Given the description of an element on the screen output the (x, y) to click on. 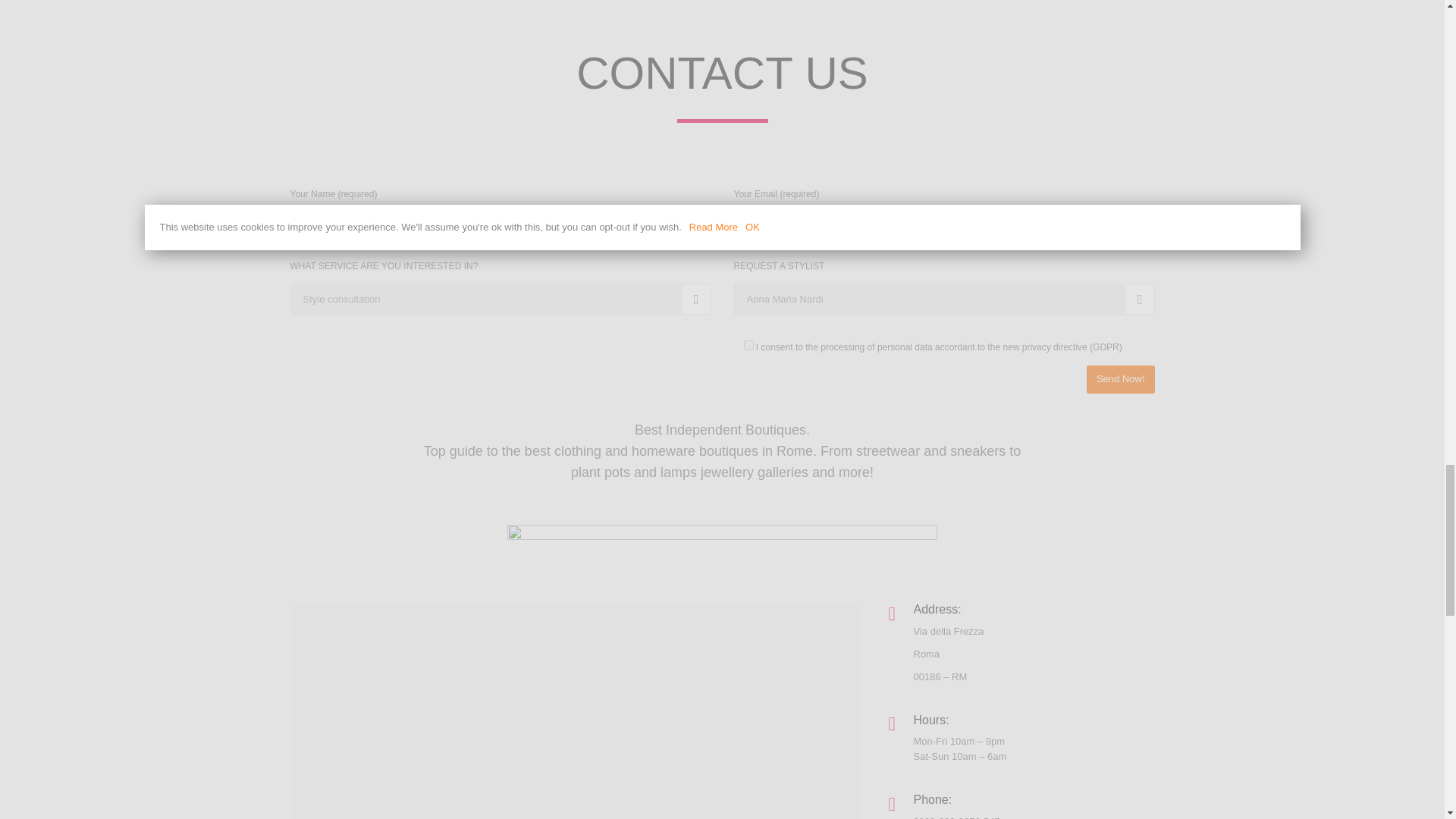
1 (747, 345)
Send Now! (1120, 379)
